Given the description of an element on the screen output the (x, y) to click on. 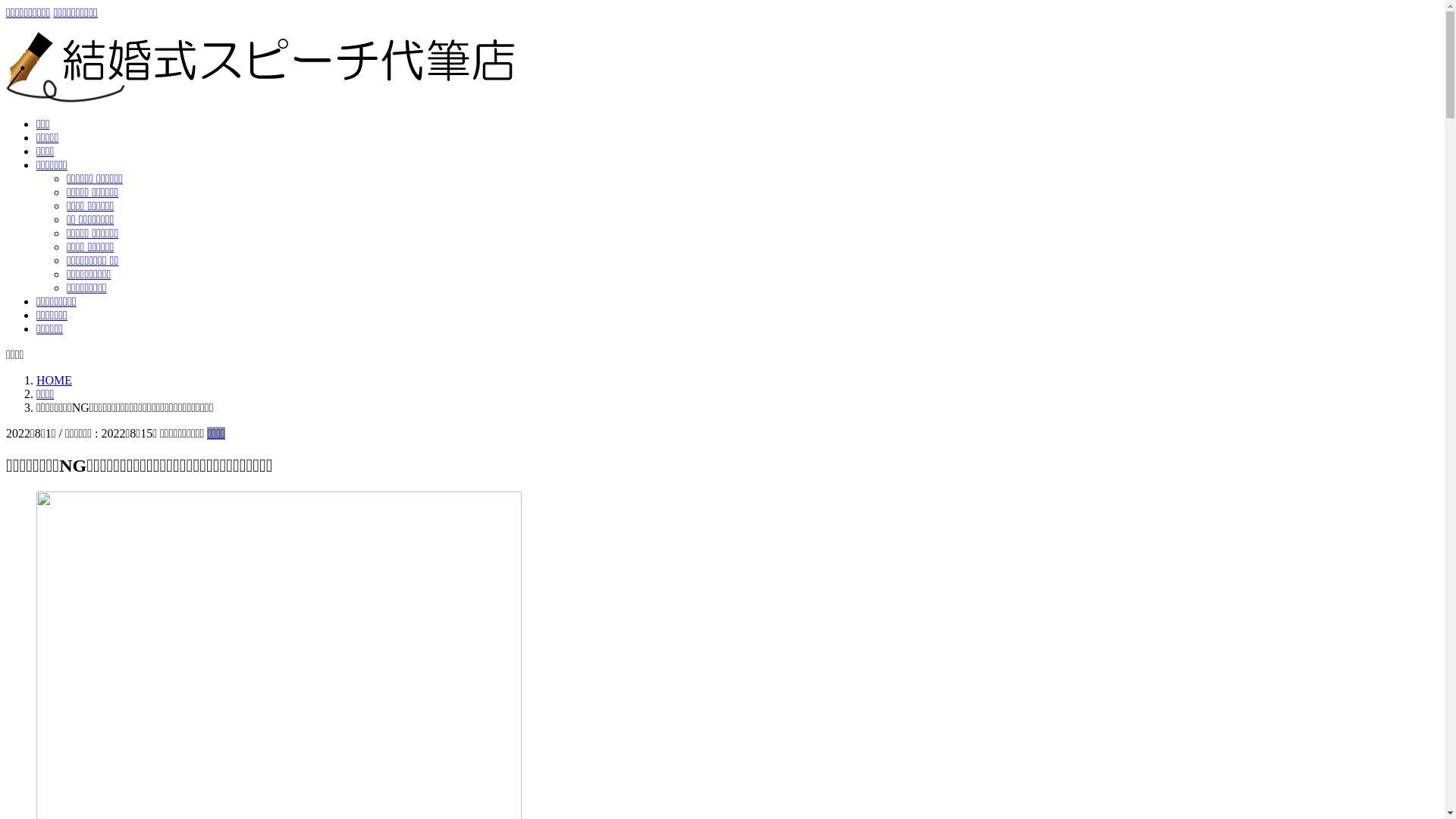
HOME Element type: text (54, 379)
